Given the description of an element on the screen output the (x, y) to click on. 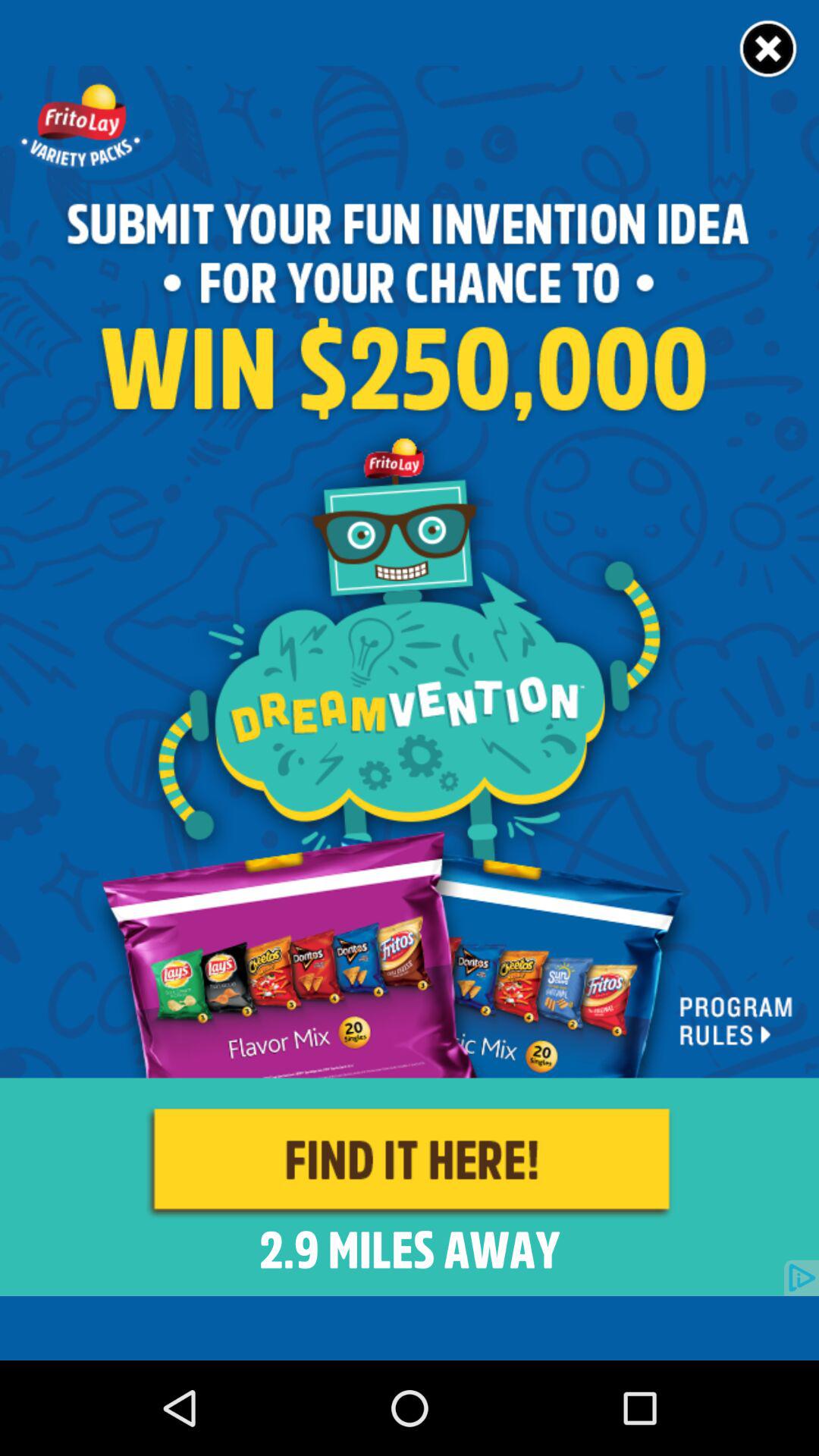
close option (769, 49)
